Given the description of an element on the screen output the (x, y) to click on. 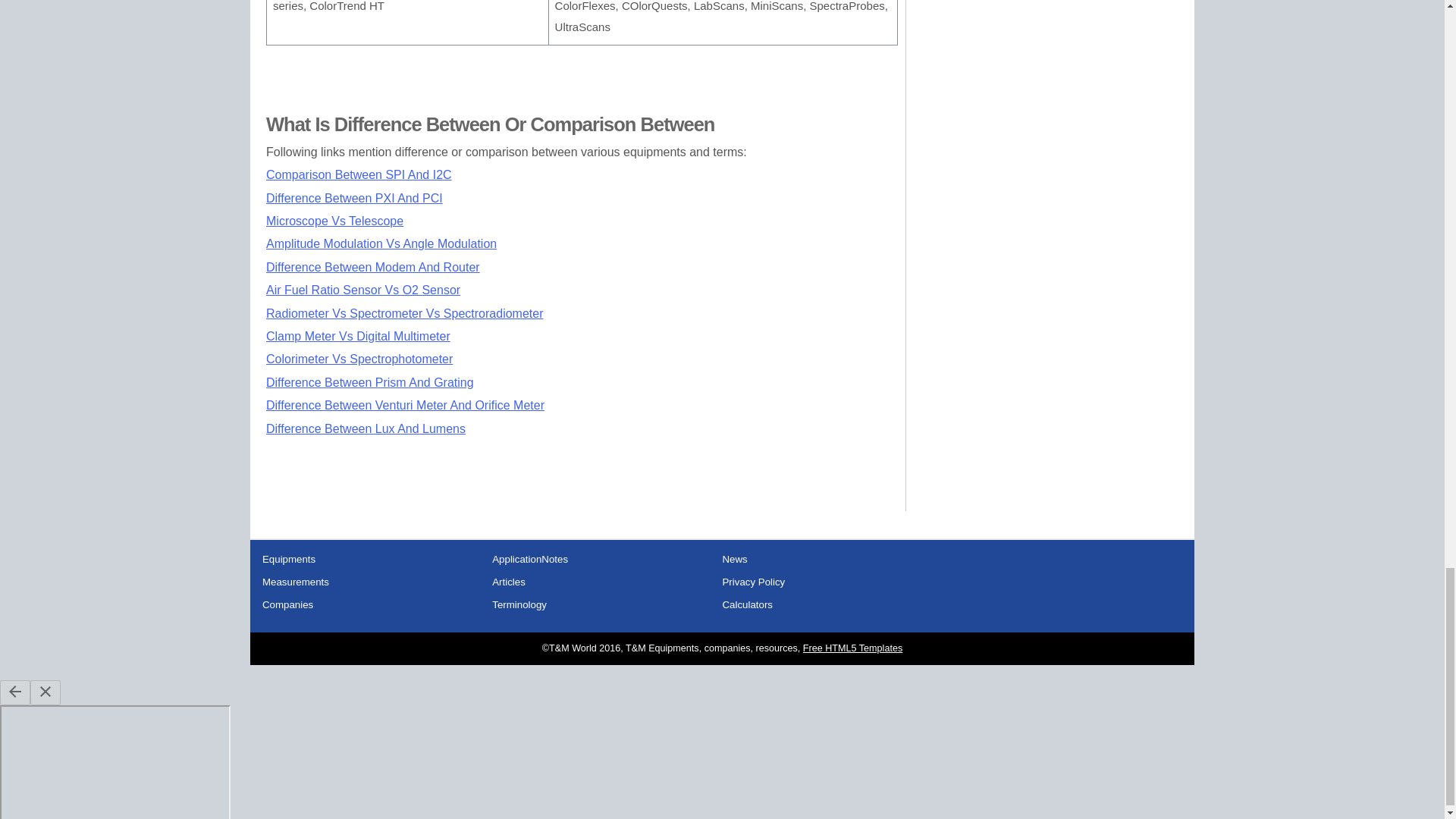
Radiometer Vs Spectrometer Vs Spectroradiometer (404, 313)
Difference Between Venturi Meter And Orifice Meter (405, 404)
Difference Between PXI And PCI (354, 197)
Difference Between Prism And Grating (370, 382)
Clamp Meter Vs Digital Multimeter (357, 336)
Difference Between Modem And Router (373, 267)
Comparison Between SPI And I2C (358, 174)
Air Fuel Ratio Sensor Vs O2 Sensor (363, 289)
Colorimeter Vs Spectrophotometer (359, 358)
Microscope Vs Telescope (334, 220)
Amplitude Modulation Vs Angle Modulation (381, 243)
Difference Between Lux And Lumens (365, 428)
